Given the description of an element on the screen output the (x, y) to click on. 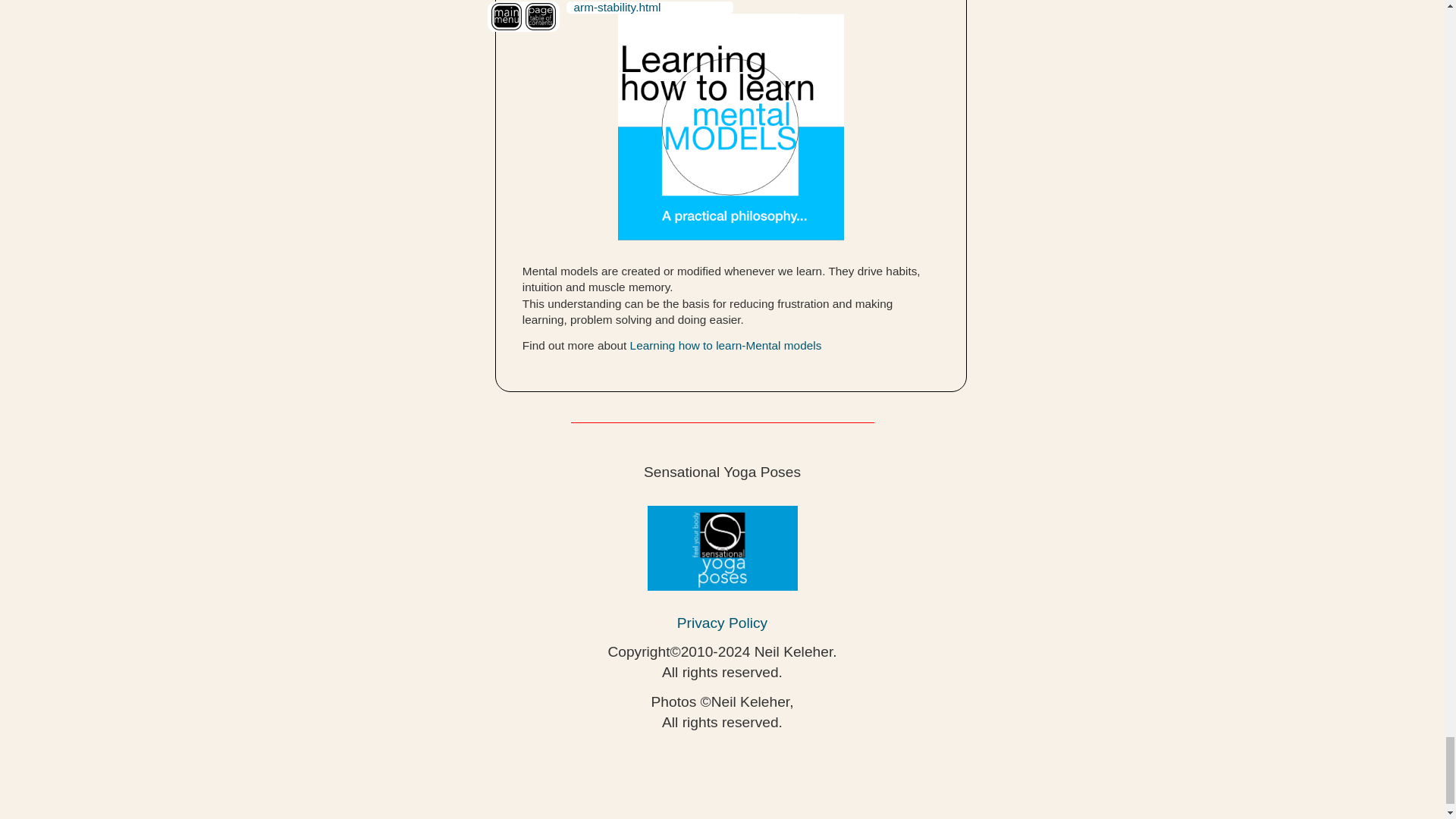
logo: Sensational Yoga Poses (722, 547)
